Given the description of an element on the screen output the (x, y) to click on. 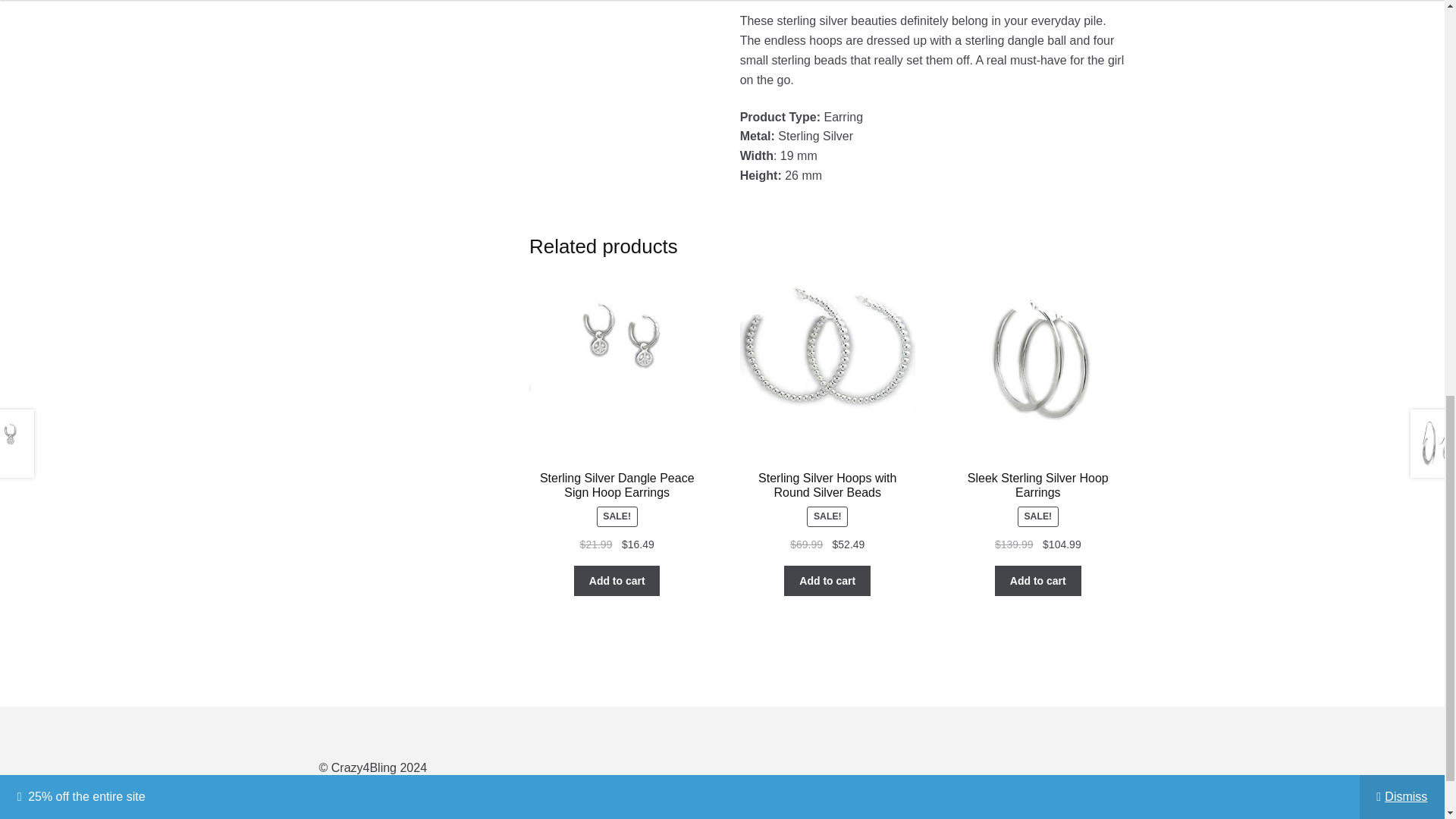
WooCommerce - The Best eCommerce Platform for WordPress (386, 787)
